Given the description of an element on the screen output the (x, y) to click on. 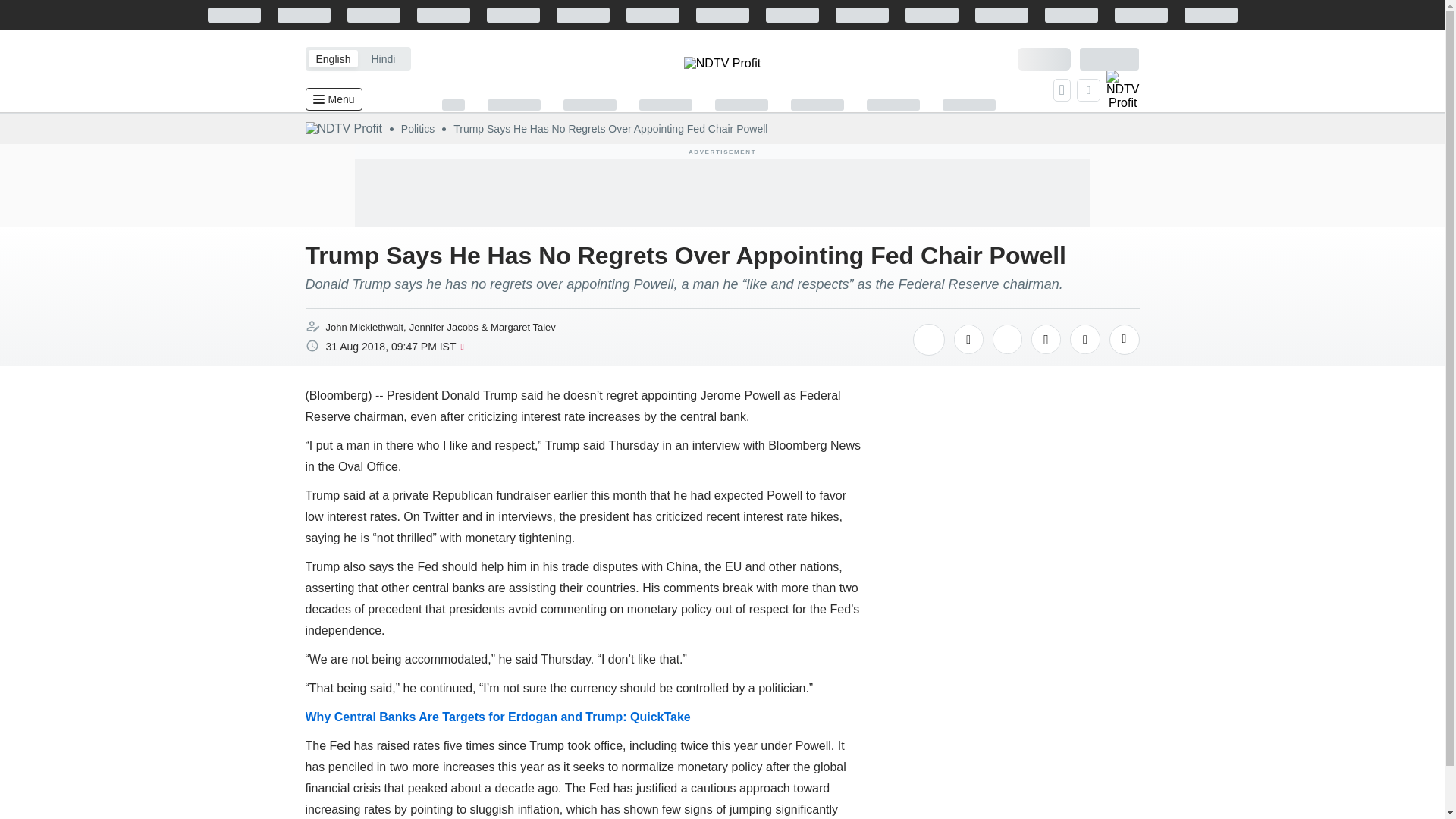
Menu (332, 98)
Hindi (382, 58)
Live TV (1123, 90)
Hindi (382, 58)
English (332, 58)
